Given the description of an element on the screen output the (x, y) to click on. 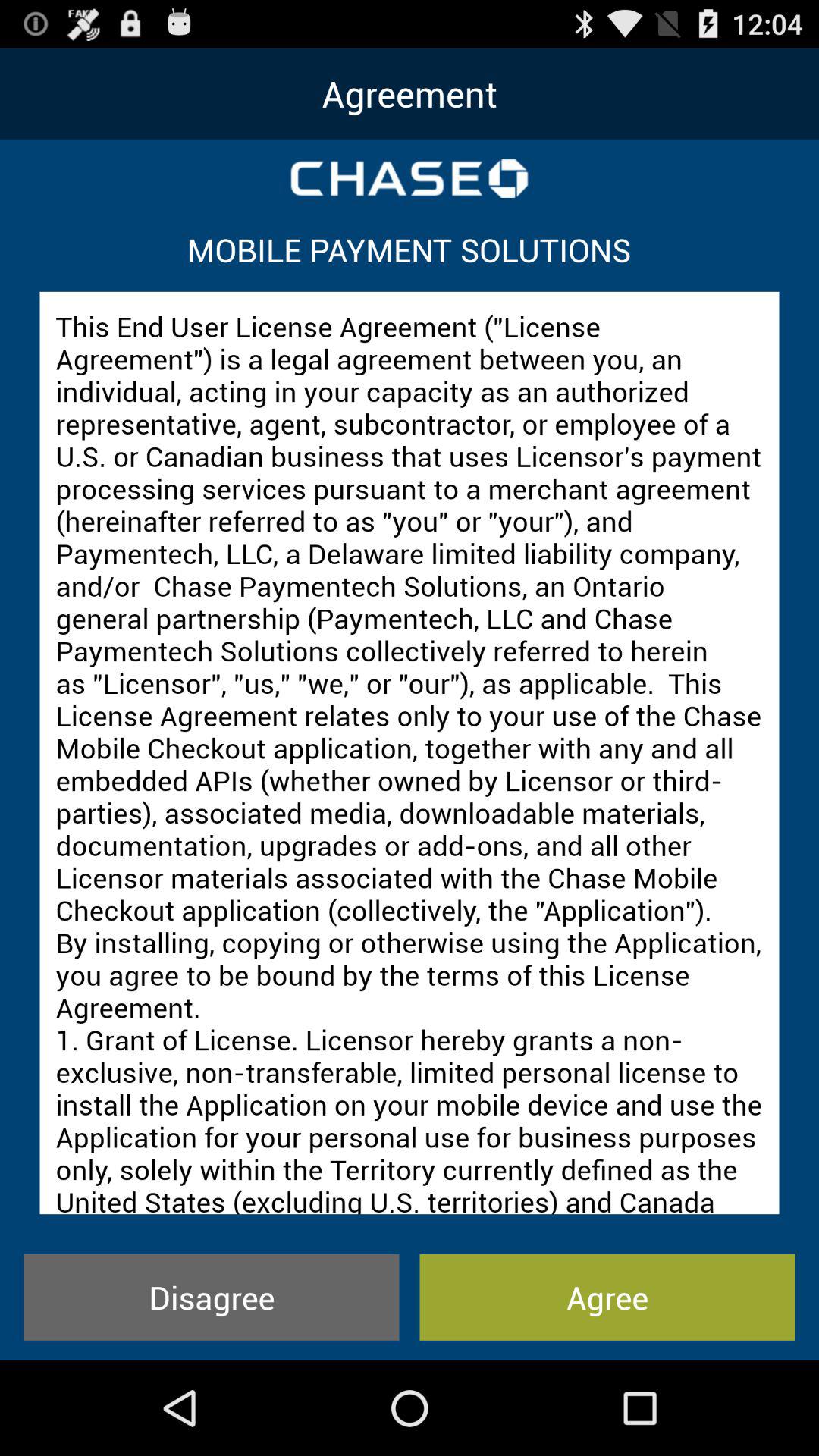
launch icon below this end user icon (607, 1297)
